Given the description of an element on the screen output the (x, y) to click on. 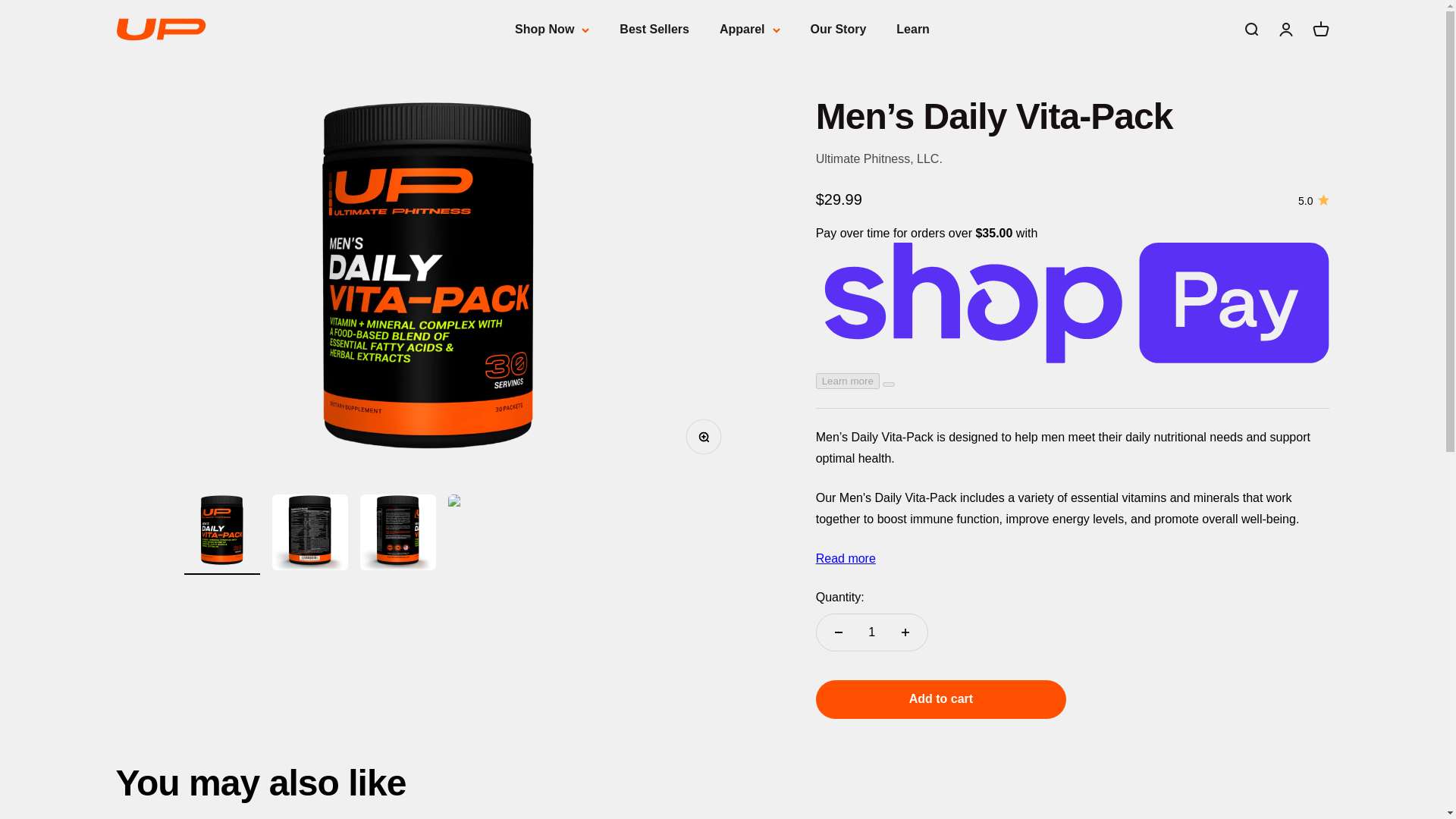
Open search (1250, 29)
Best Sellers (1319, 29)
208 reviews (654, 29)
Our Story (1312, 200)
Ultimate Phitness (838, 29)
Learn (160, 29)
Open account page (913, 29)
